Given the description of an element on the screen output the (x, y) to click on. 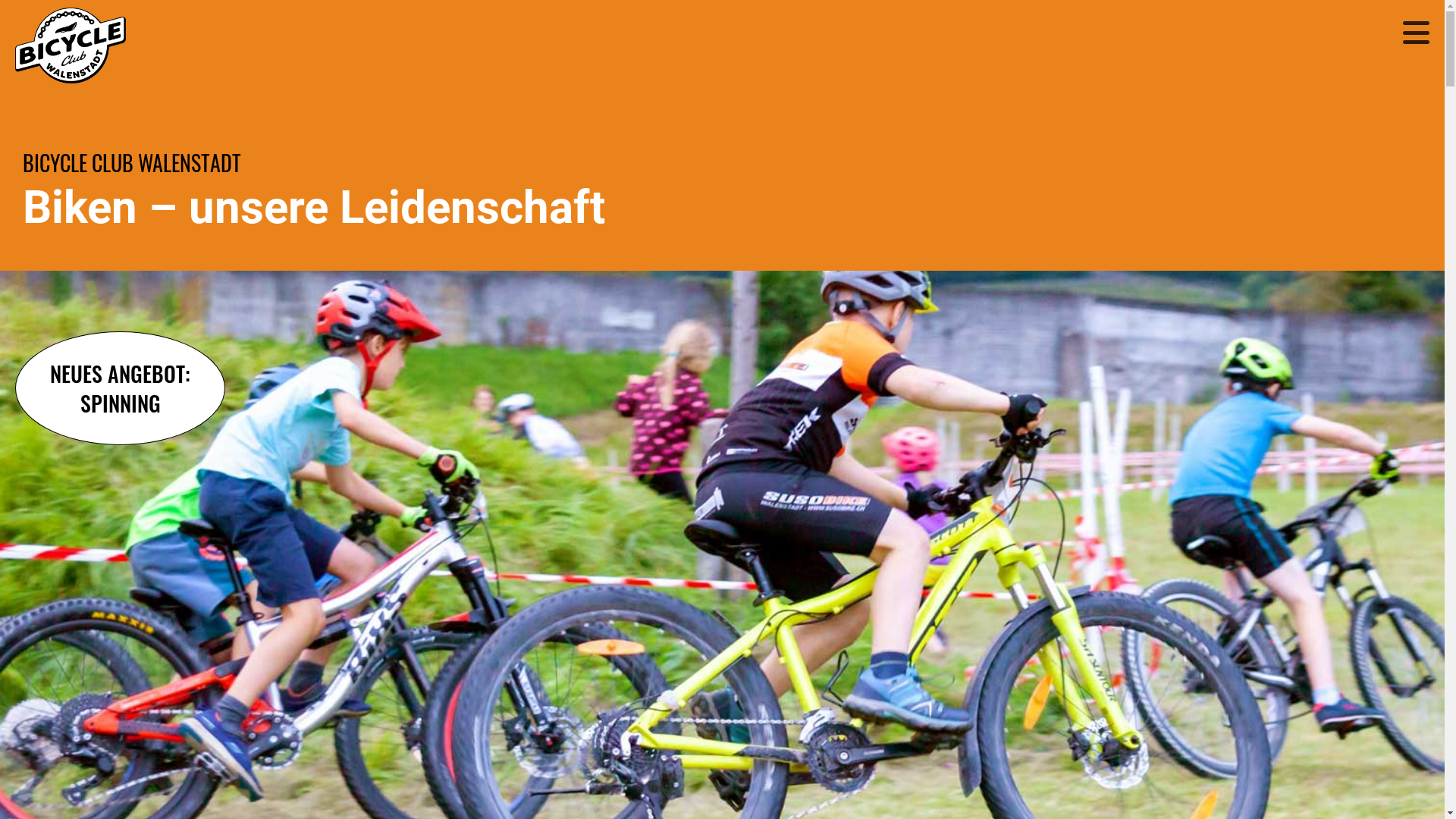
NEUES ANGEBOT:
SPINNING Element type: text (120, 388)
